Given the description of an element on the screen output the (x, y) to click on. 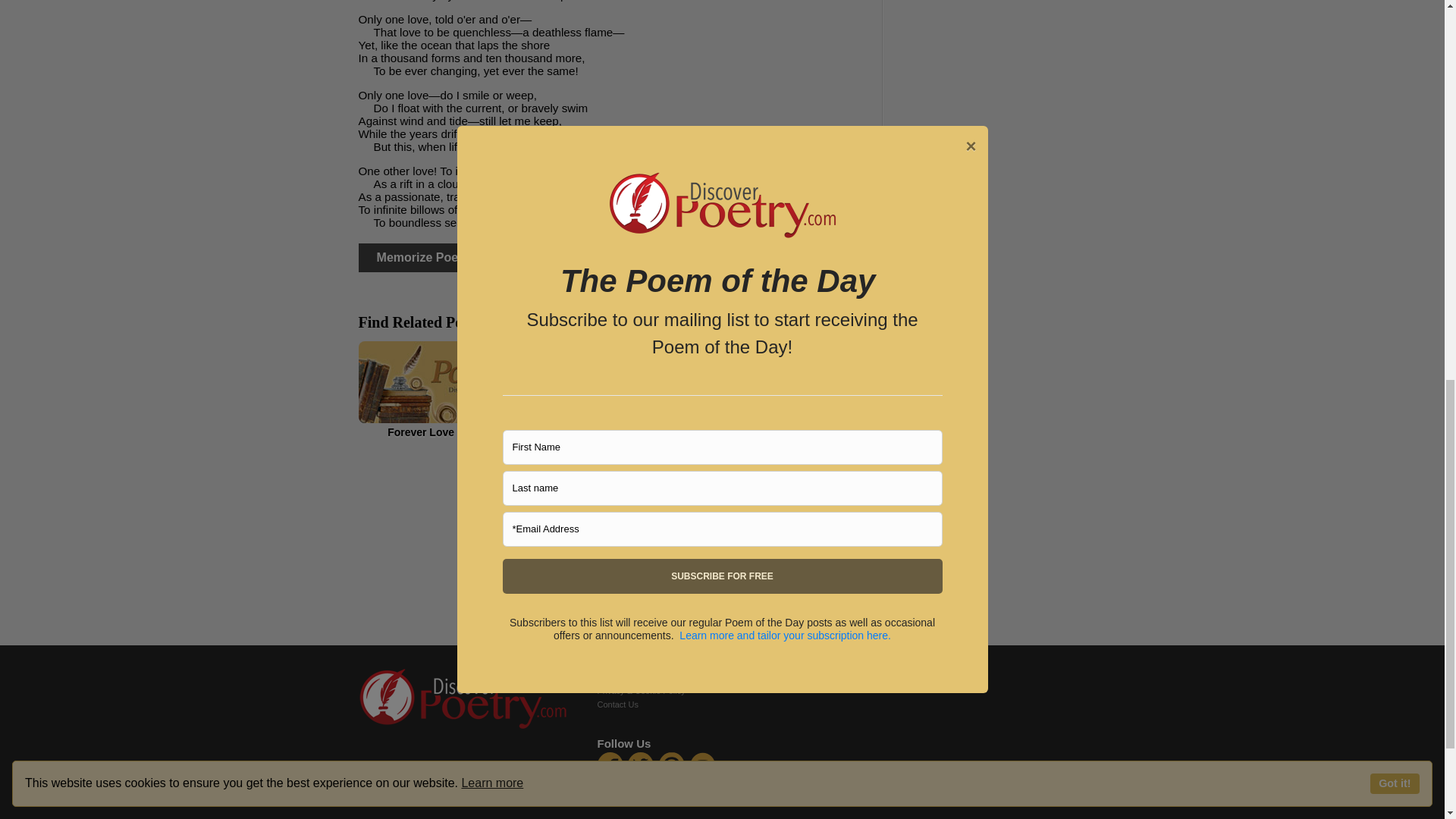
Love Poems (613, 389)
Contact Us (617, 704)
Forever Love Poems (439, 389)
Poems About Love (785, 389)
